Given the description of an element on the screen output the (x, y) to click on. 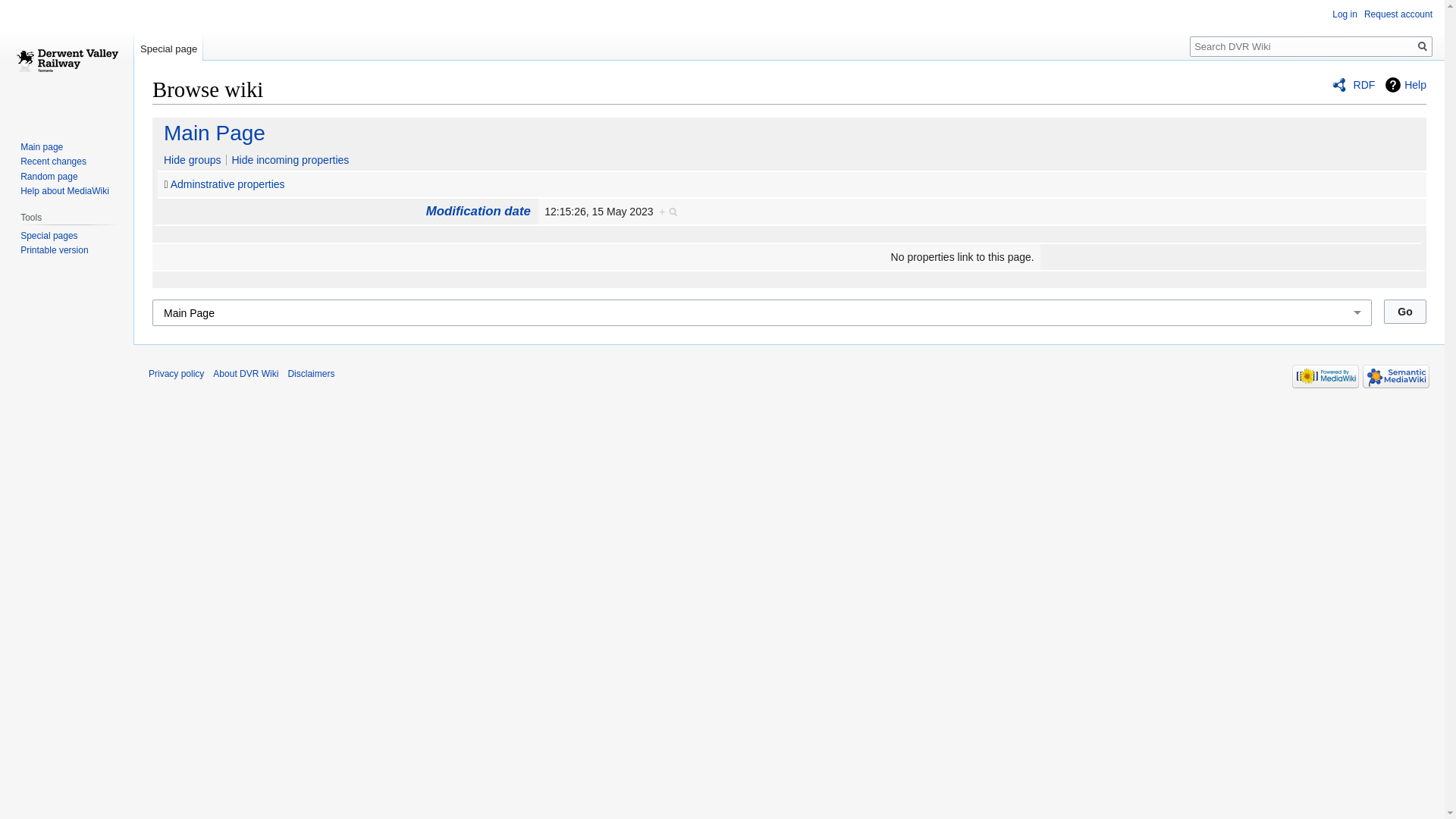
Adminstrative properties Element type: text (227, 184)
Search pages for this text Element type: hover (1422, 46)
Special pages Element type: text (48, 235)
Main Page Element type: text (211, 132)
About DVR Wiki Element type: text (245, 373)
Special page Element type: text (168, 45)
Printable version Element type: text (53, 249)
Recent changes Element type: text (53, 161)
Help about MediaWiki Element type: text (64, 190)
+ Element type: text (668, 211)
RDF Element type: text (1353, 84)
Go Element type: text (1404, 311)
Search Element type: text (1422, 46)
Request account Element type: text (1398, 14)
Random page Element type: text (48, 176)
Privacy policy Element type: text (175, 373)
Main page Element type: text (41, 146)
Search DVR Wiki [alt-shift-f] Element type: hover (1310, 46)
Hide incoming properties Element type: text (289, 159)
Help Element type: text (1405, 84)
Hide groups Element type: text (189, 159)
Jump to navigation Element type: text (151, 116)
Visit the main page Element type: hover (66, 60)
Disclaimers Element type: text (310, 373)
Modification date Element type: text (478, 210)
Log in Element type: text (1344, 14)
